Given the description of an element on the screen output the (x, y) to click on. 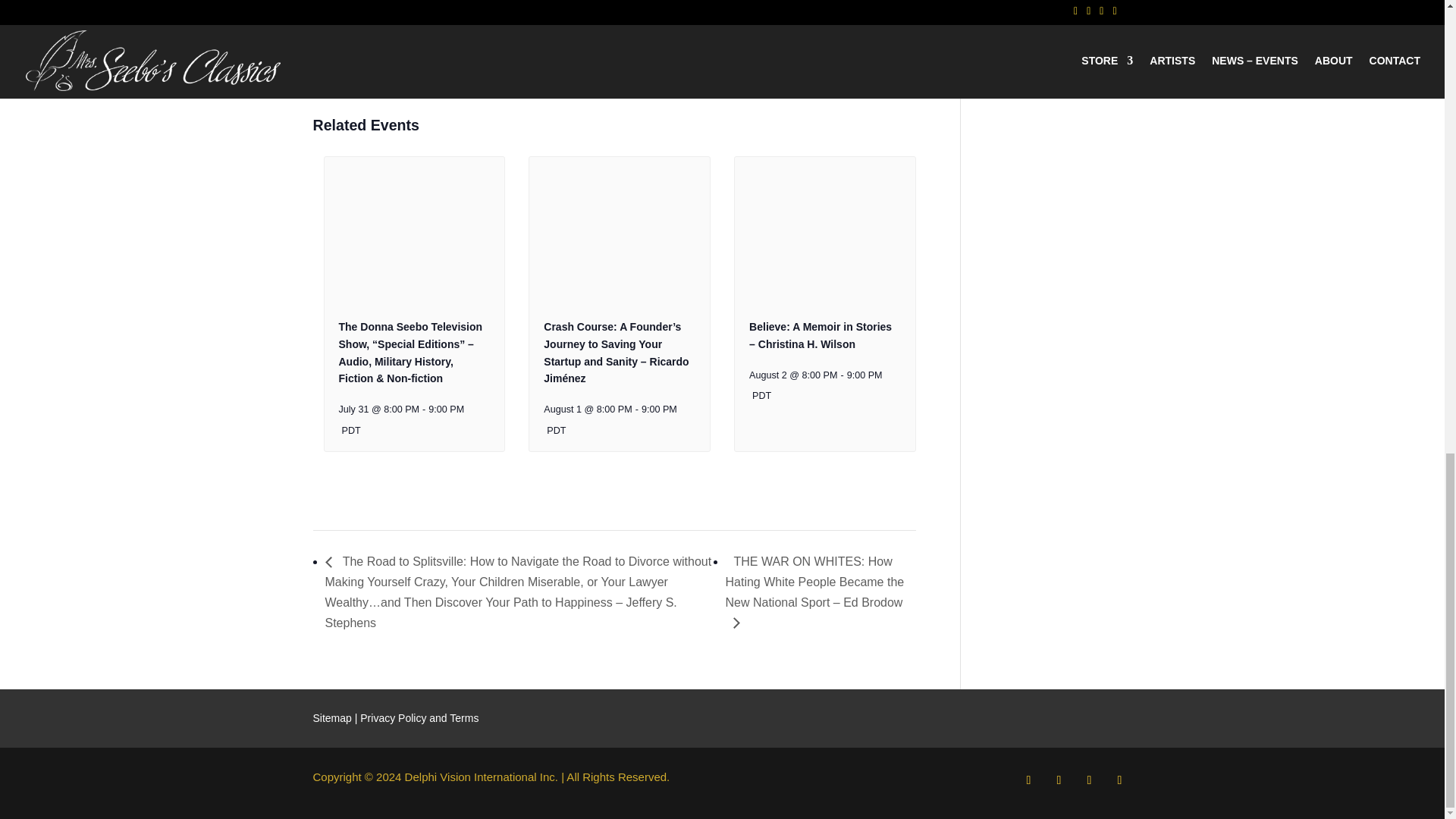
Follow on X (1058, 780)
Sitemap (331, 717)
Follow on Instagram (1088, 780)
Follow on Facebook (1028, 780)
Follow on RSS (1118, 780)
Privacy Policy and Terms (419, 717)
